Given the description of an element on the screen output the (x, y) to click on. 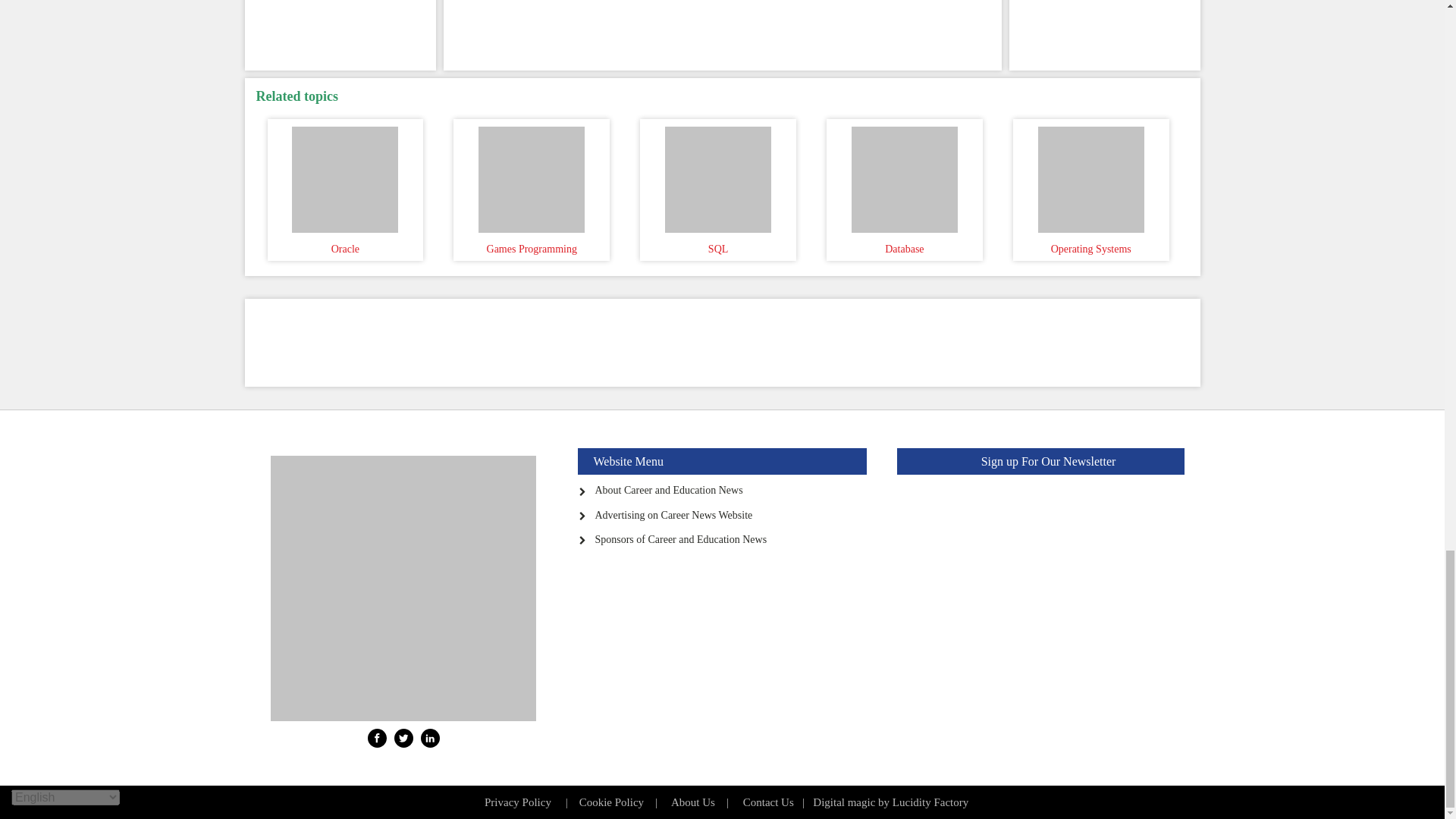
SQL (717, 175)
Oracle (345, 175)
Games Programming (531, 175)
Database (903, 175)
Operating Systems (1091, 175)
